Given the description of an element on the screen output the (x, y) to click on. 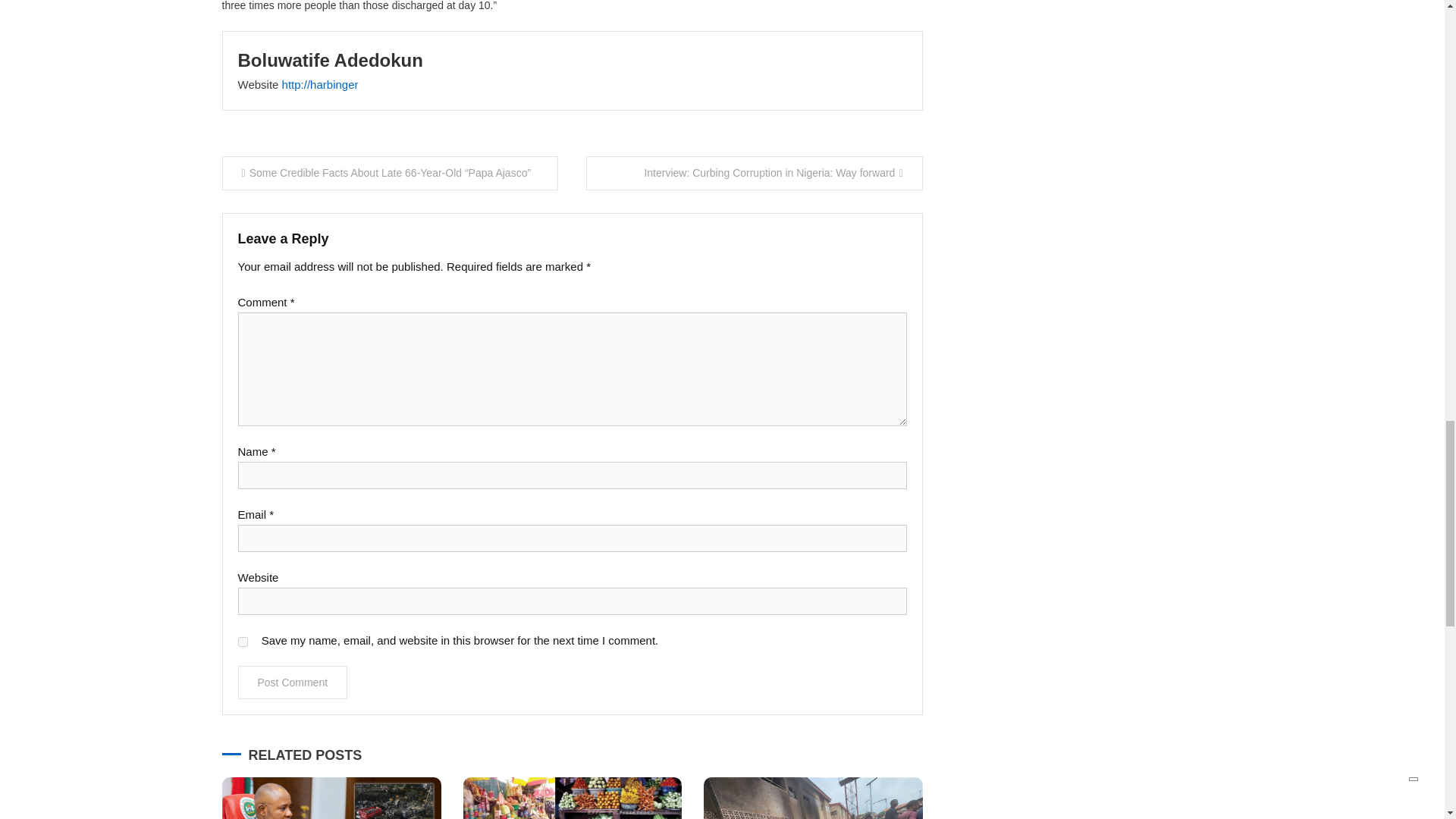
Post Comment (292, 682)
Boluwatife Adedokun (330, 59)
yes (242, 642)
Posts by Boluwatife Adedokun (330, 59)
